Given the description of an element on the screen output the (x, y) to click on. 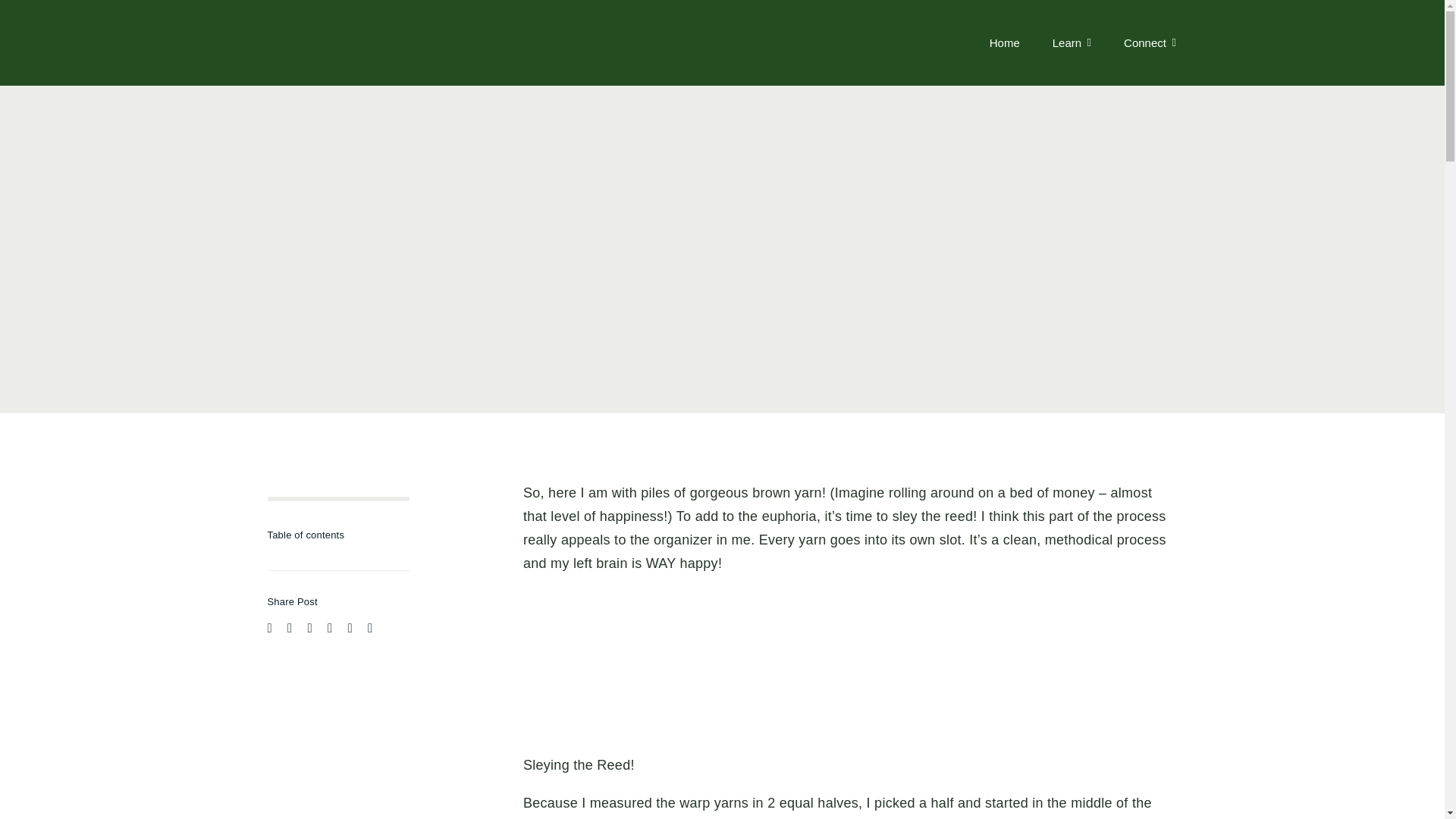
0 (337, 498)
Run 8 Sleying 1 (636, 670)
Connect (1150, 42)
Home (1005, 42)
Learn (1071, 42)
